Given the description of an element on the screen output the (x, y) to click on. 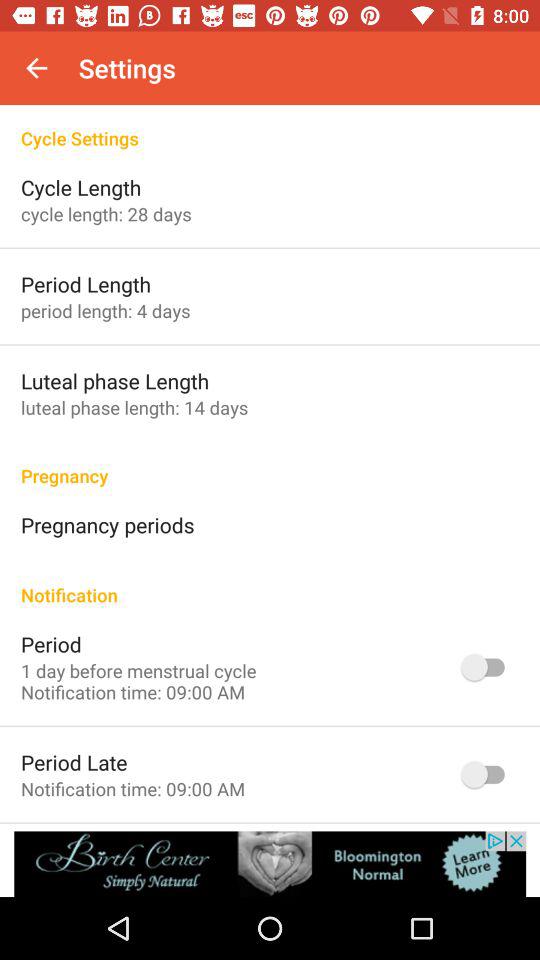
advertisement link (270, 864)
